Given the description of an element on the screen output the (x, y) to click on. 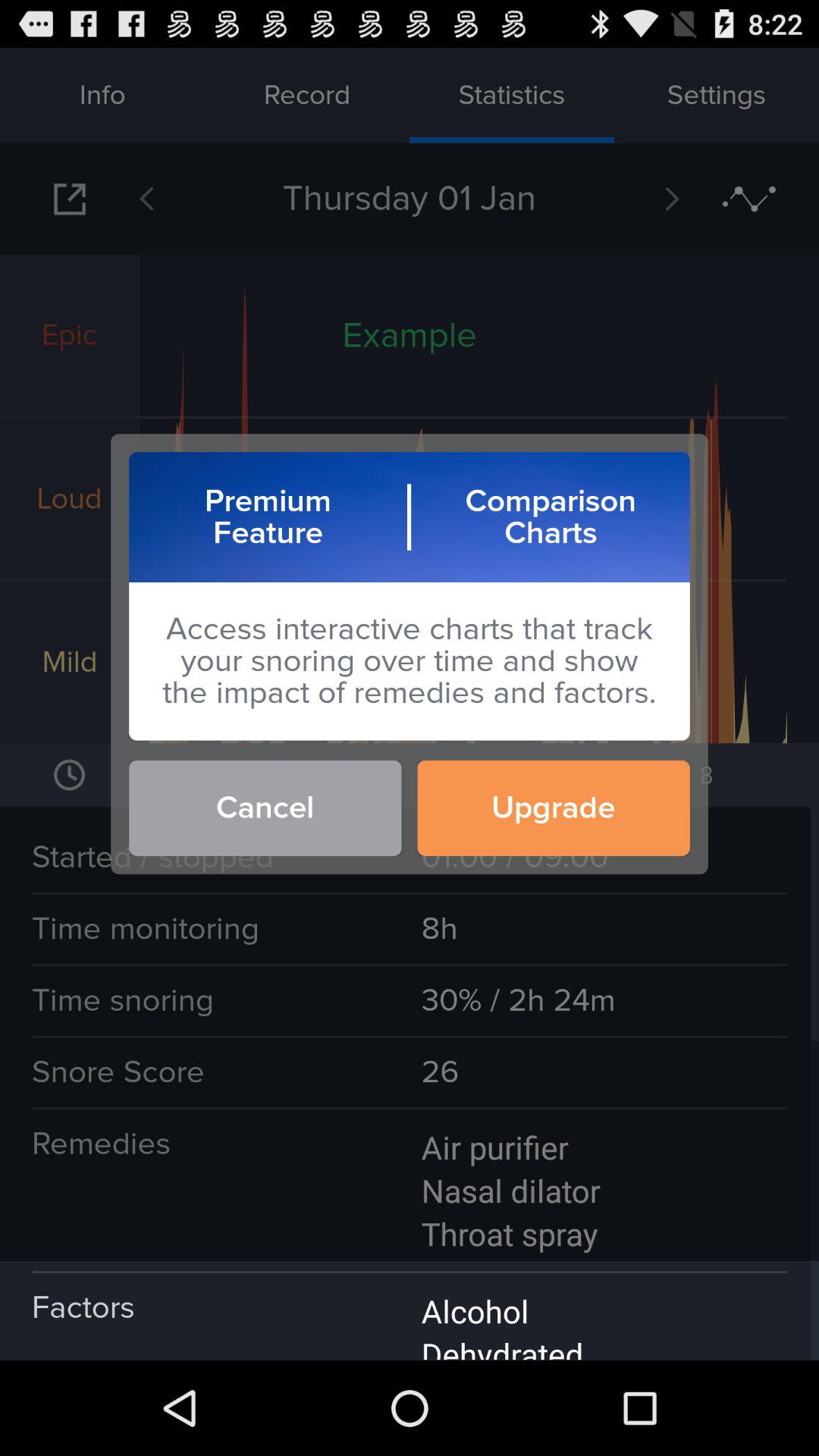
flip until cancel button (265, 807)
